Given the description of an element on the screen output the (x, y) to click on. 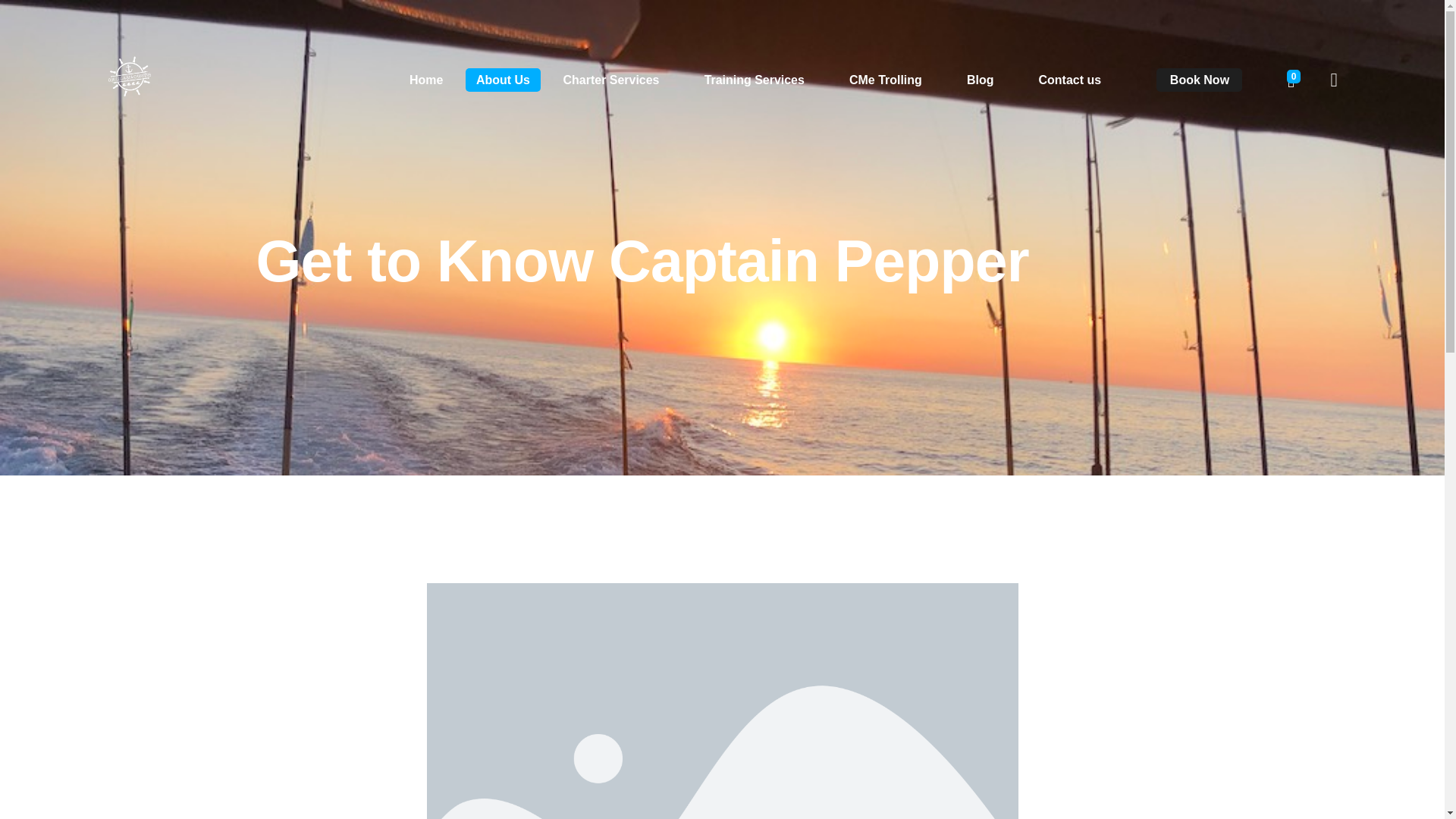
Charter Services (610, 79)
Home (431, 79)
Blog (979, 79)
Book Now (1198, 79)
Training Services (754, 79)
Contact us (1064, 79)
About Us (502, 79)
CMe Trolling (885, 79)
